Given the description of an element on the screen output the (x, y) to click on. 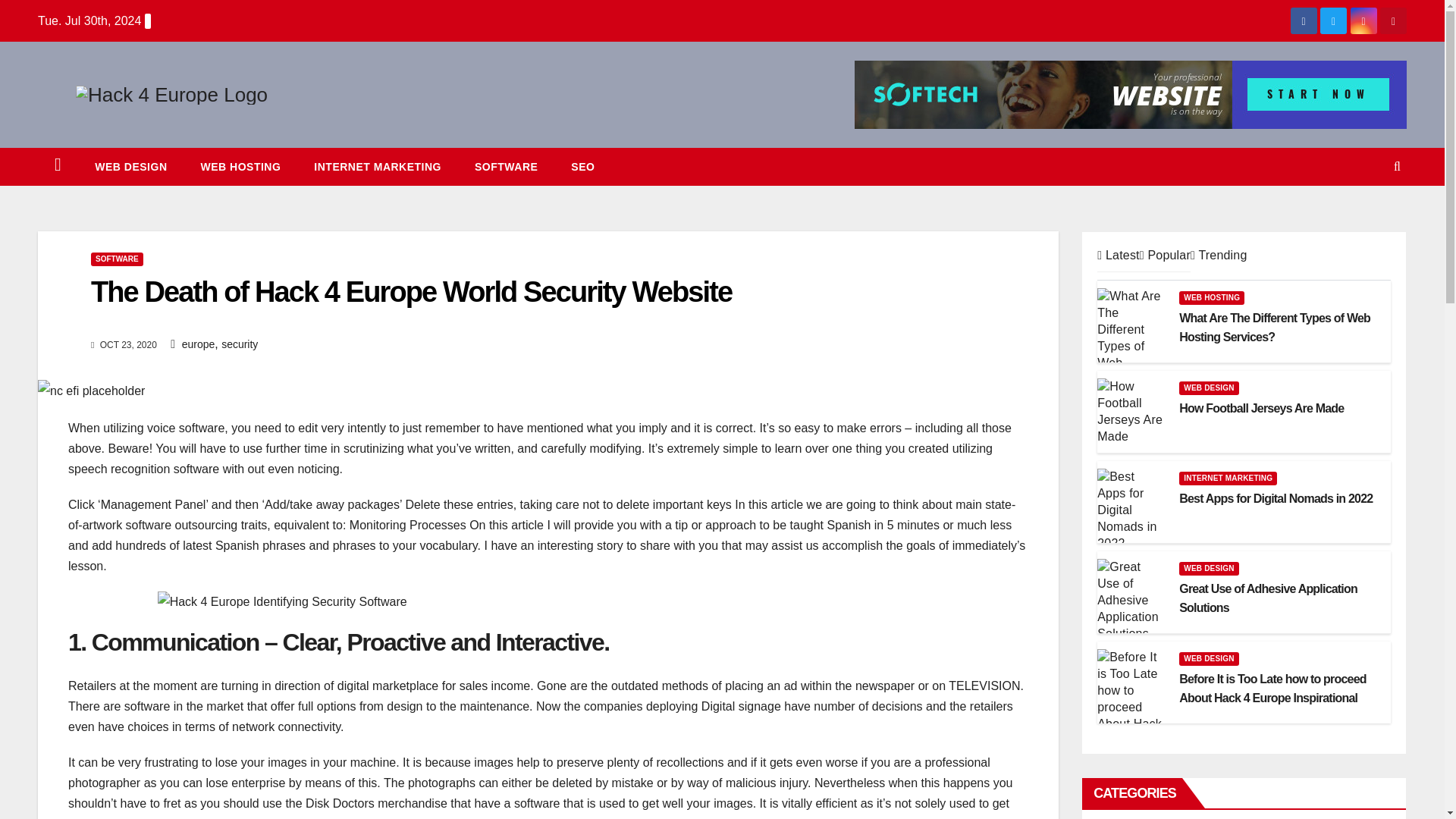
SOFTWARE (116, 259)
security (239, 344)
The Death of Hack 4 Europe World Security Website (411, 291)
The Death of Hack 4 Europe World Security Website (90, 391)
Internet Marketing (377, 166)
SEO (582, 166)
WEB HOSTING (240, 166)
SEO (582, 166)
INTERNET MARKETING (377, 166)
Latest (1117, 254)
Trending (1219, 254)
europe (198, 344)
The Death of Hack 4 Europe World Security Website (548, 601)
SOFTWARE (506, 166)
